Given the description of an element on the screen output the (x, y) to click on. 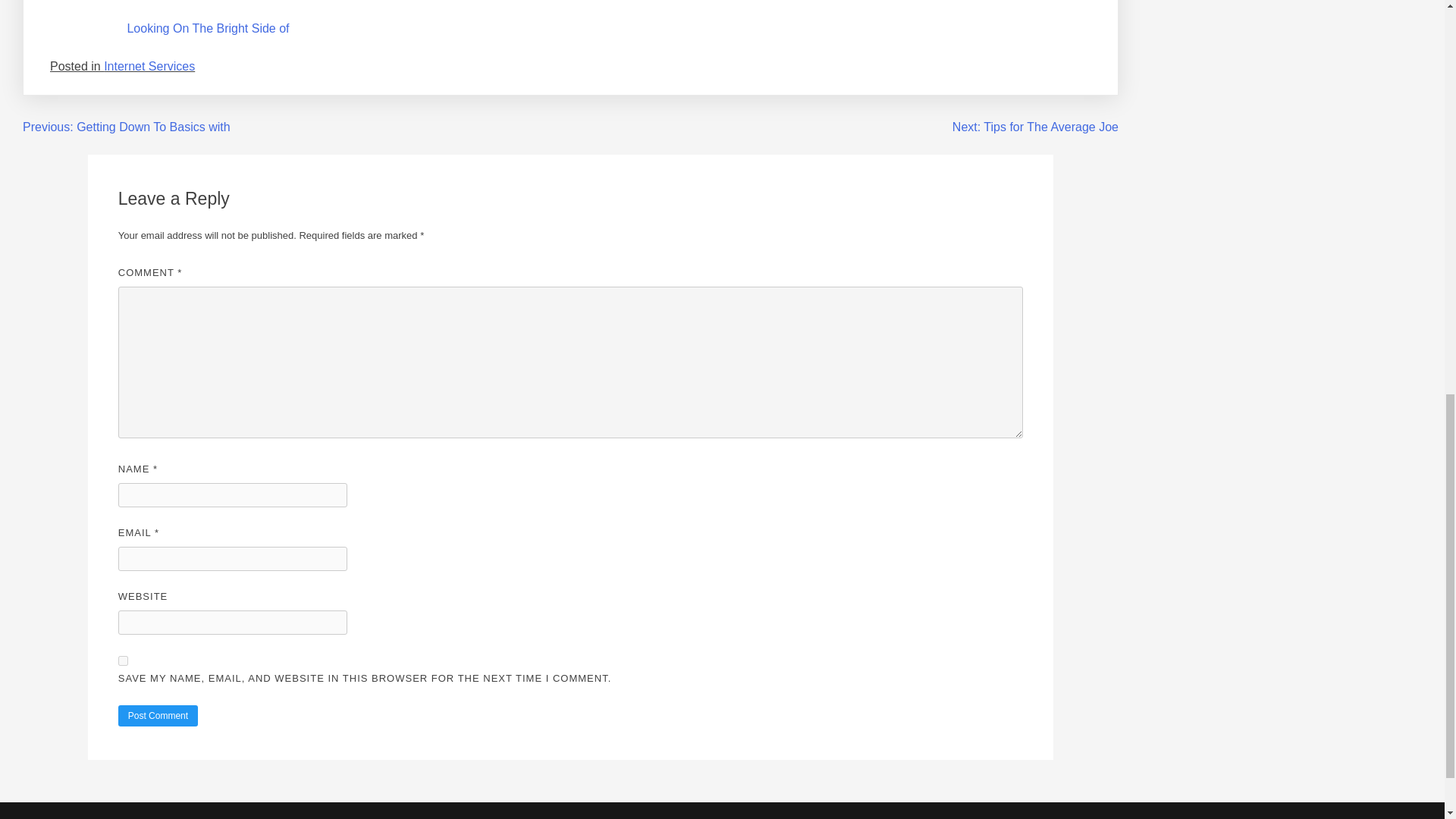
Internet Services (149, 65)
Next: Tips for The Average Joe (1035, 126)
yes (122, 660)
Post Comment (157, 715)
Previous: Getting Down To Basics with (126, 126)
Post Comment (157, 715)
Looking On The Bright Side of (207, 28)
